Given the description of an element on the screen output the (x, y) to click on. 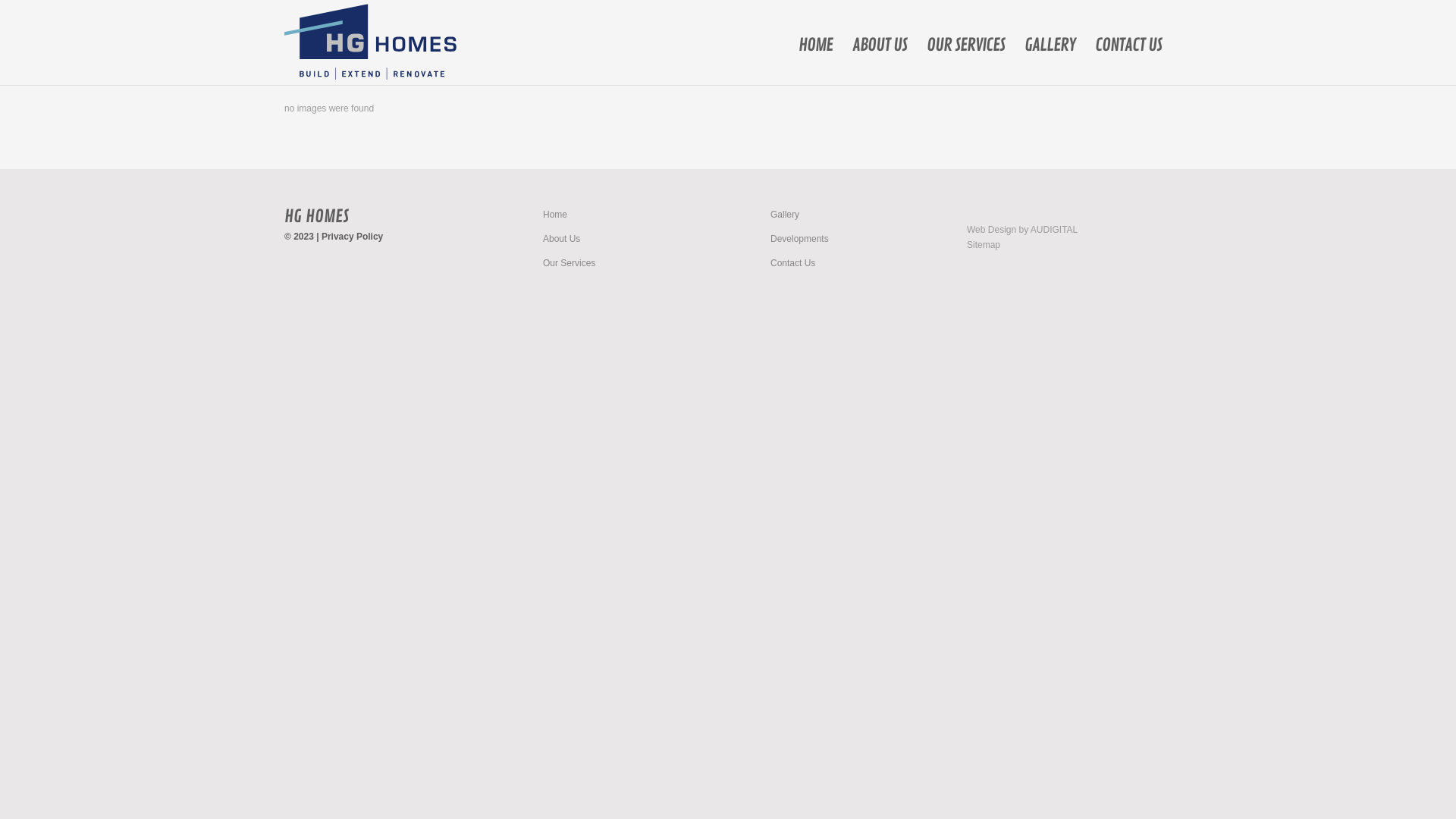
CONTACT US Element type: text (1128, 44)
About Us Element type: text (561, 238)
HOME Element type: text (815, 44)
Gallery Element type: text (784, 214)
Developments Element type: text (799, 238)
Our Services Element type: text (568, 262)
OUR SERVICES Element type: text (965, 44)
Brisbane Builders and Renovators Element type: hover (370, 41)
Sitemap Element type: text (983, 244)
Home Element type: text (554, 214)
Privacy Policy Element type: text (351, 236)
GALLERY Element type: text (1049, 44)
AUDIGITAL Element type: text (1053, 229)
ABOUT US Element type: text (879, 44)
Contact Us Element type: text (792, 262)
